Given the description of an element on the screen output the (x, y) to click on. 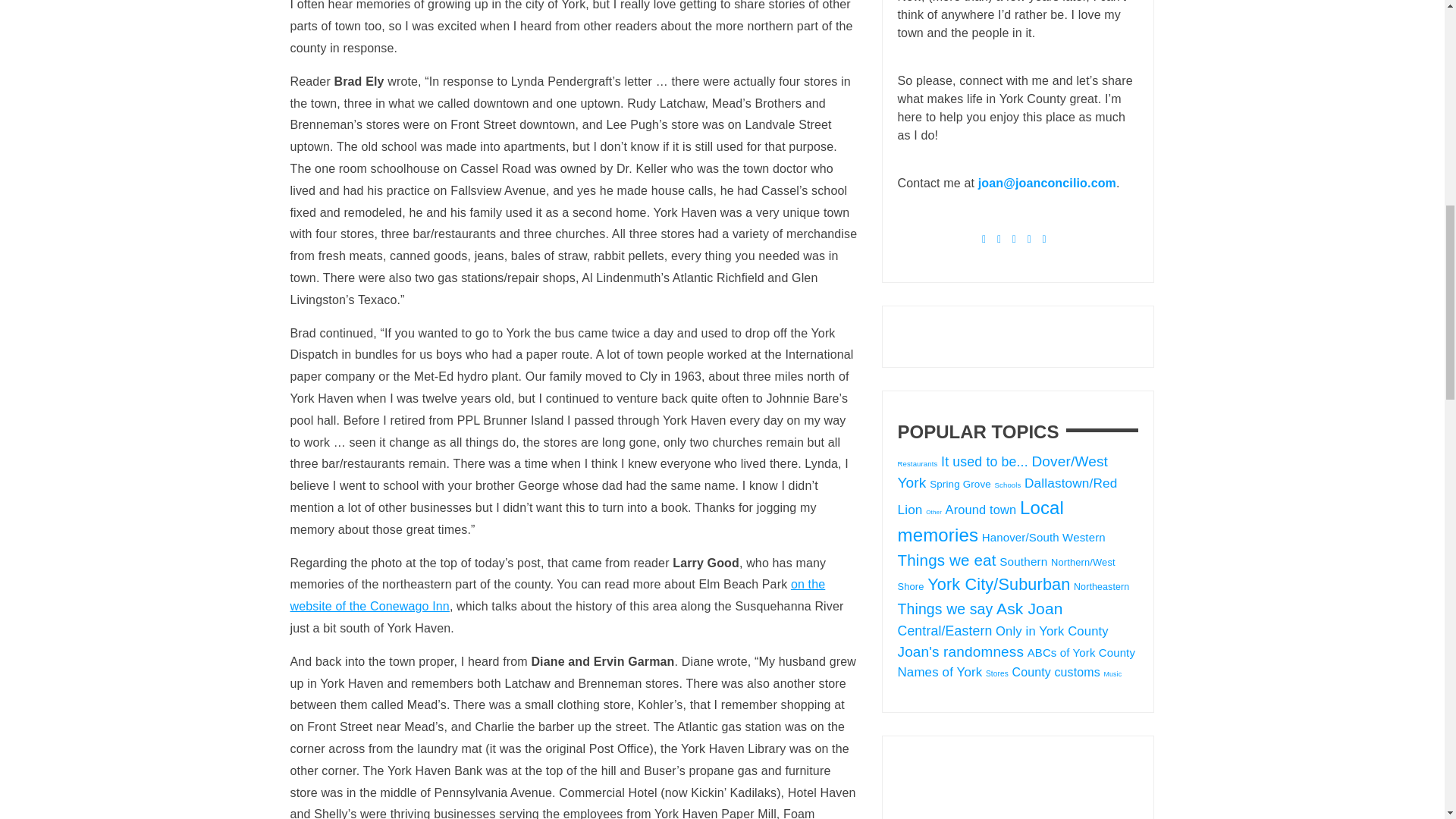
Restaurants (917, 463)
Schools (1008, 484)
Other (934, 511)
It used to be... (983, 461)
on the website of the Conewago Inn (557, 595)
Spring Grove (960, 483)
